Given the description of an element on the screen output the (x, y) to click on. 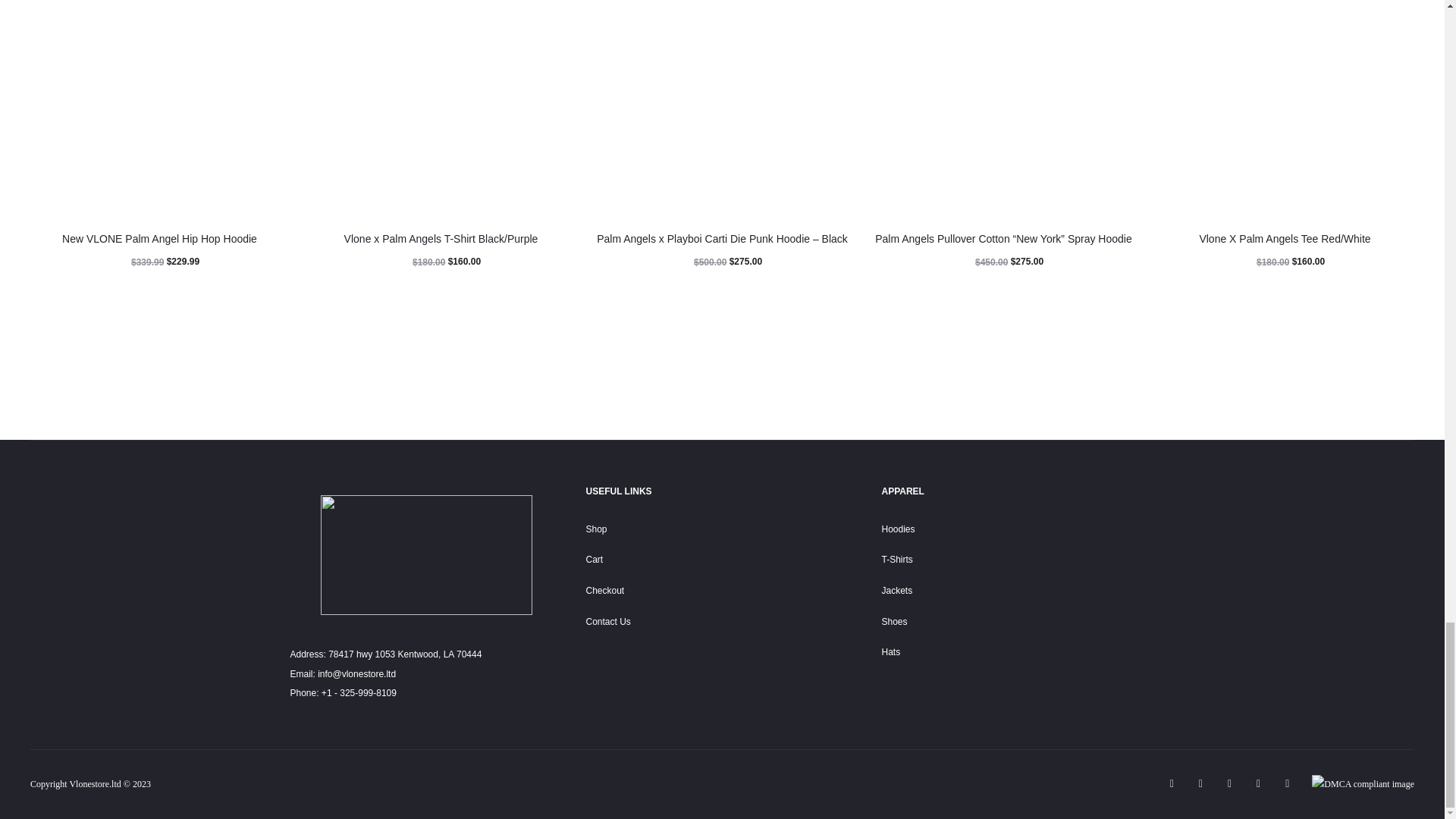
DMCA Compliance information for vlonestore.ltd (1362, 783)
